Given the description of an element on the screen output the (x, y) to click on. 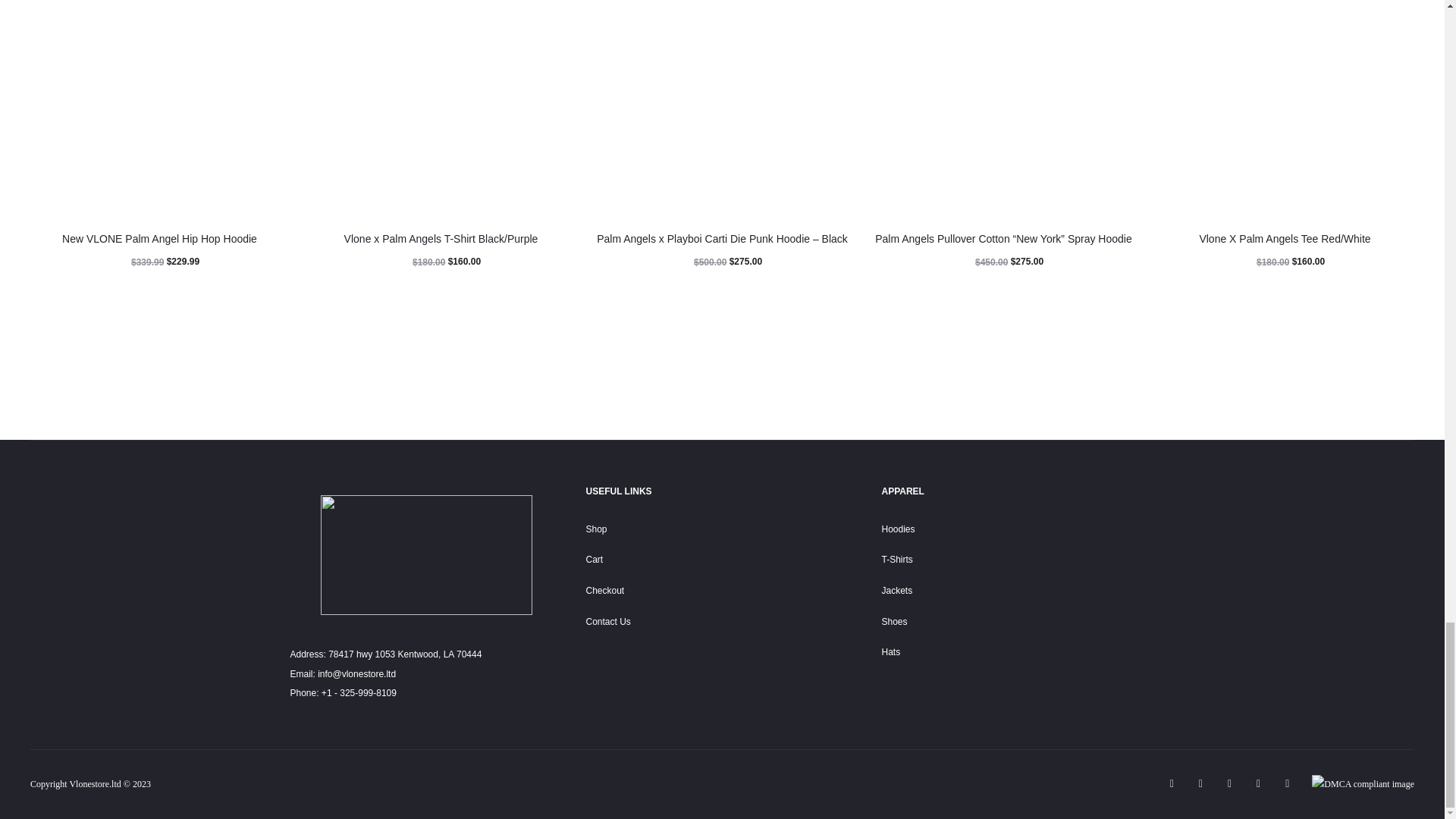
DMCA Compliance information for vlonestore.ltd (1362, 783)
